Given the description of an element on the screen output the (x, y) to click on. 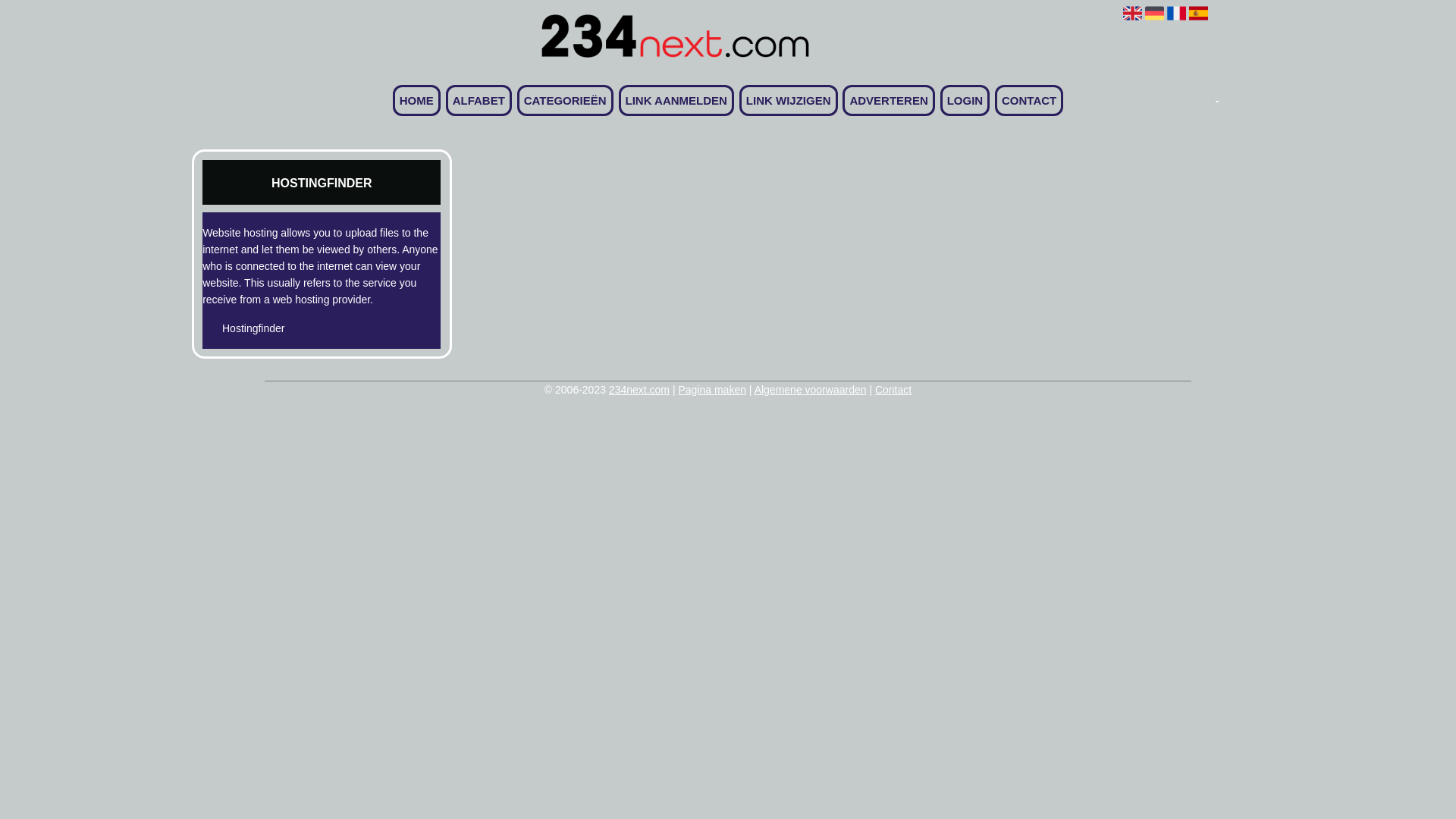
HOME Element type: text (416, 100)
ADVERTEREN Element type: text (888, 100)
LINK AANMELDEN Element type: text (676, 100)
ALFABET Element type: text (478, 100)
Pagina maken Element type: text (711, 389)
LOGIN Element type: text (965, 100)
Hostingfinder Element type: text (295, 328)
234next.com Element type: text (638, 389)
Algemene voorwaarden Element type: text (810, 389)
Contact Element type: text (893, 389)
LINK WIJZIGEN Element type: text (788, 100)
CONTACT Element type: text (1028, 100)
